Given the description of an element on the screen output the (x, y) to click on. 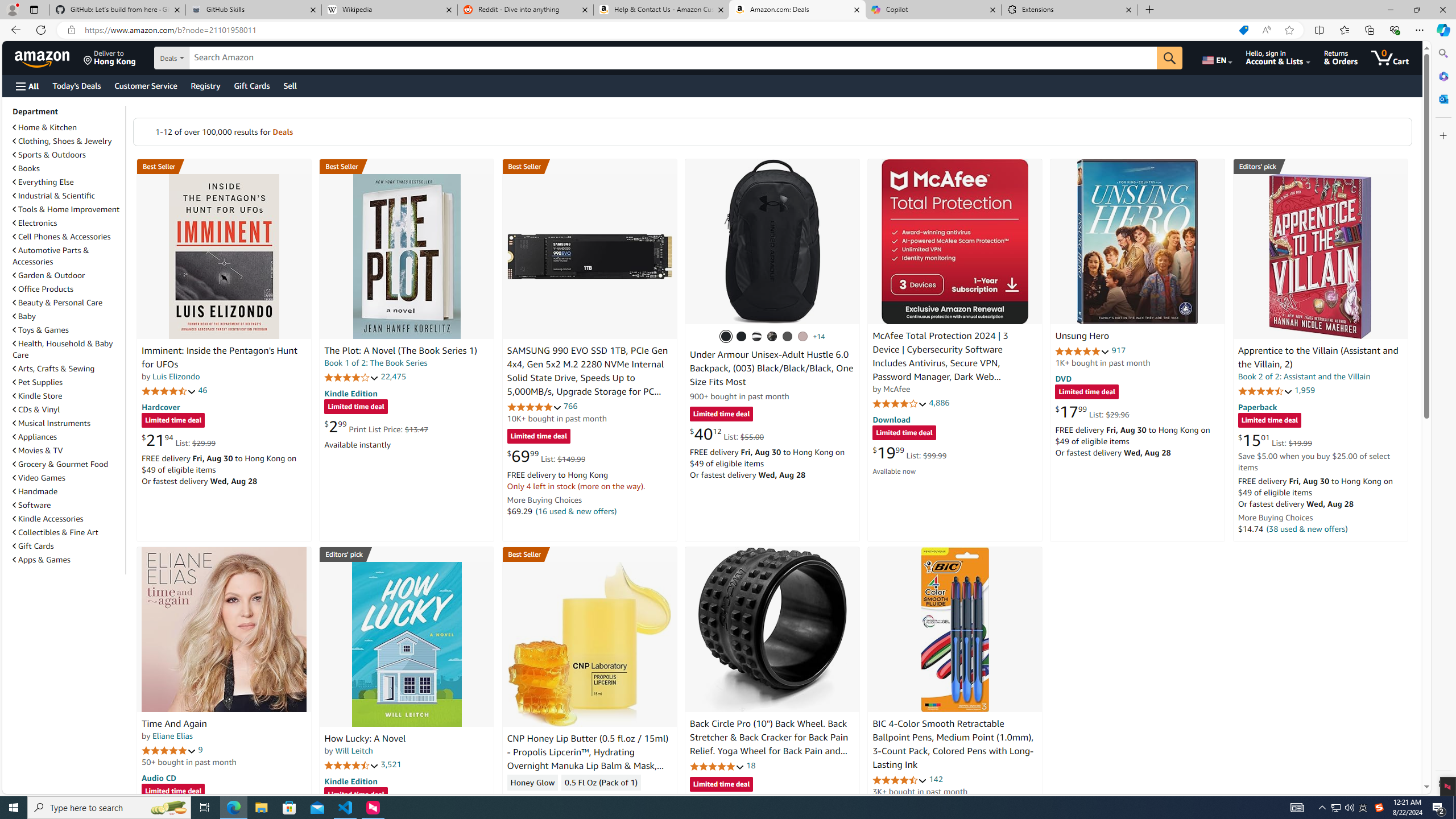
Apps & Games (67, 559)
Hardcover (160, 406)
Go (1169, 57)
Movies & TV (37, 450)
4.1 out of 5 stars (899, 403)
Electronics (67, 222)
Imminent: Inside the Pentagon's Hunt for UFOs (223, 256)
Kindle Store (67, 395)
(16 used & new offers) (576, 511)
Beauty & Personal Care (58, 302)
DVD (1063, 378)
(38 used & new offers) (1307, 528)
Search in (210, 58)
